Given the description of an element on the screen output the (x, y) to click on. 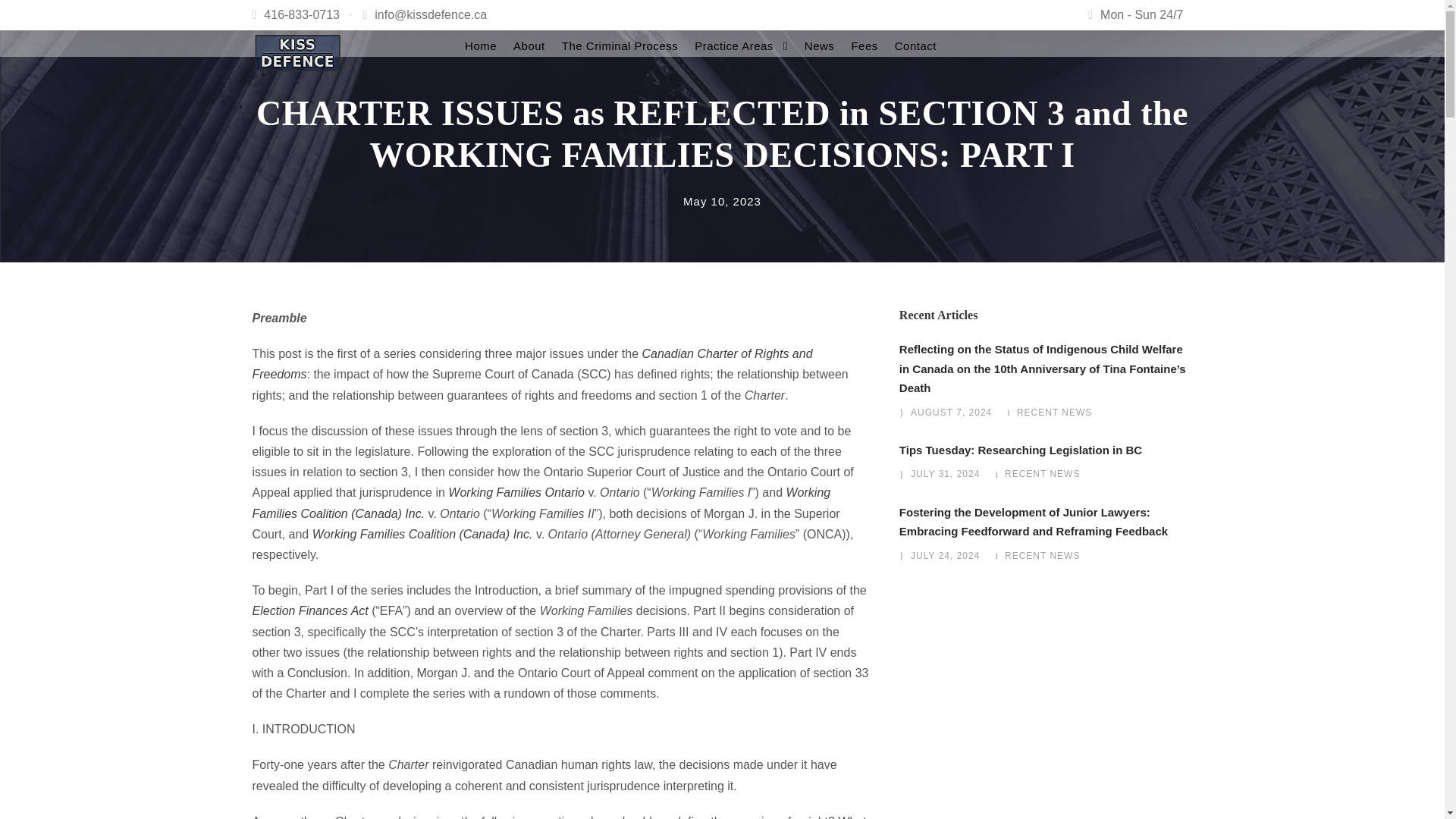
Working Families Ontario (516, 492)
Home (480, 46)
Canadian Charter of Rights and Freedoms (531, 363)
Posts by Recent News (1054, 412)
May 10, 2023 (721, 201)
Contact (915, 46)
News (819, 46)
416-833-0713 (301, 14)
Practice Areas (740, 46)
Fees (863, 46)
